Given the description of an element on the screen output the (x, y) to click on. 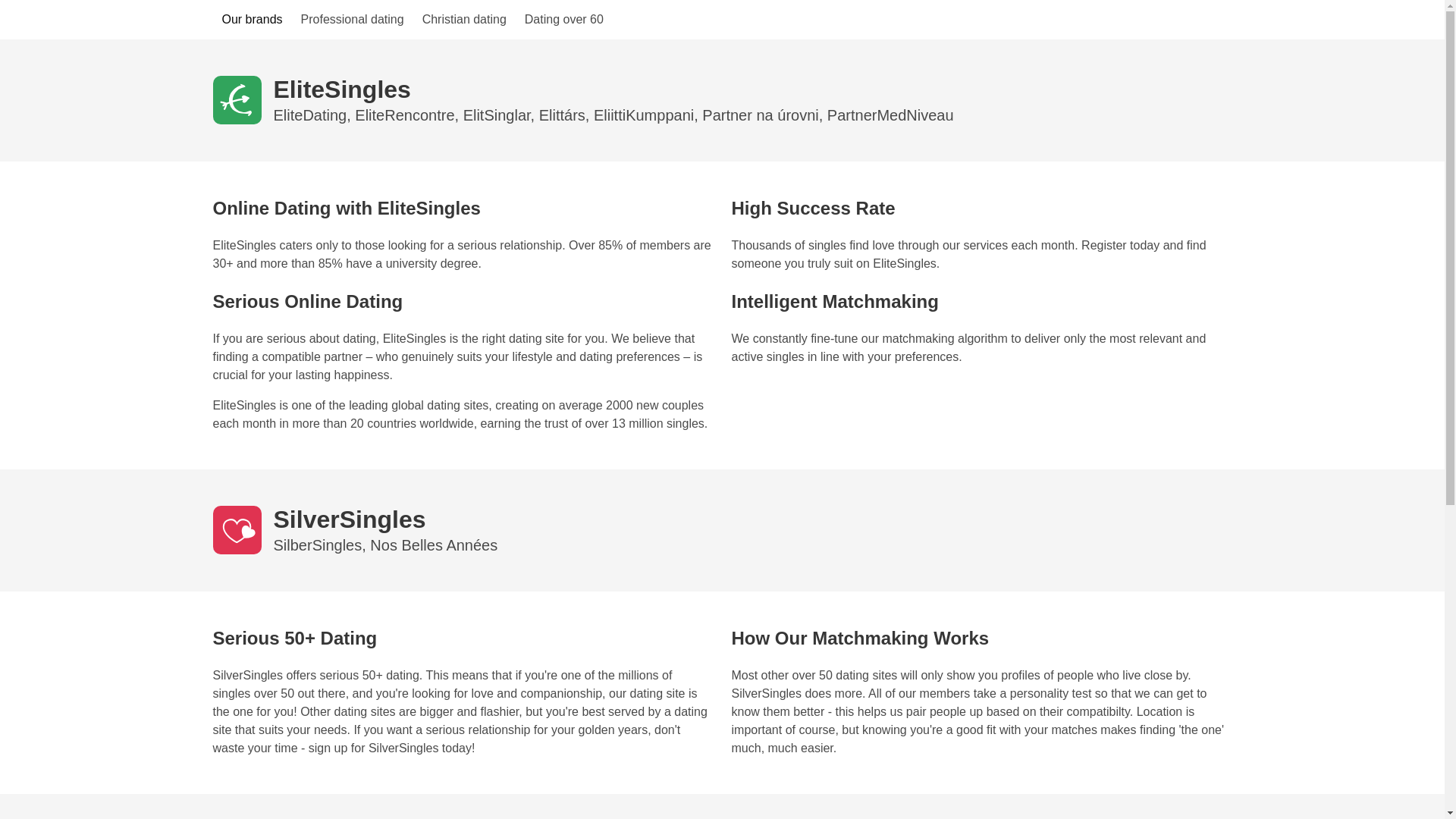
Dating over 60 (563, 19)
Our brands (251, 19)
Christian dating (464, 19)
Professional dating (352, 19)
